Given the description of an element on the screen output the (x, y) to click on. 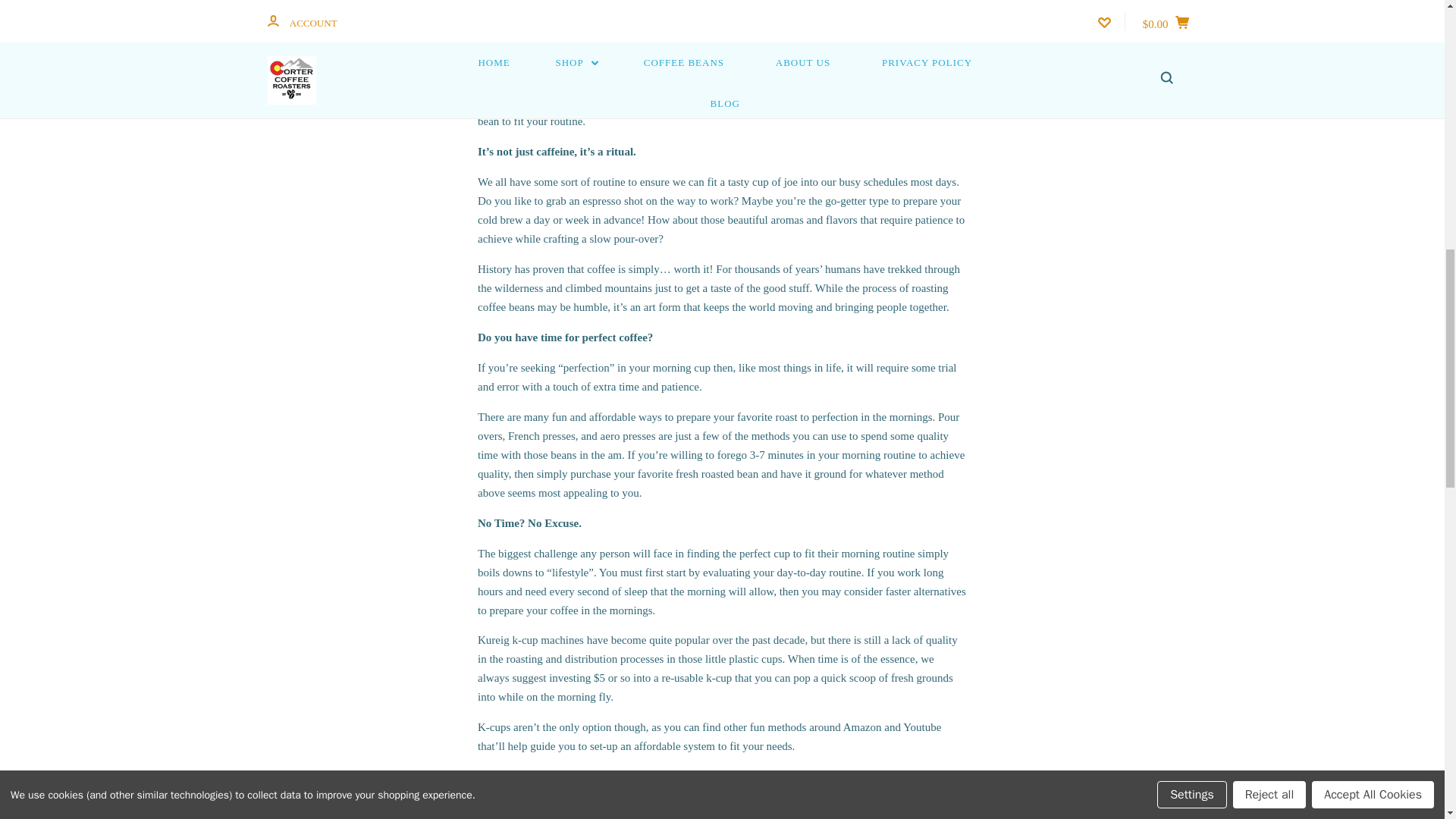
Crafting A Morning Coffee Routine (721, 28)
